Given the description of an element on the screen output the (x, y) to click on. 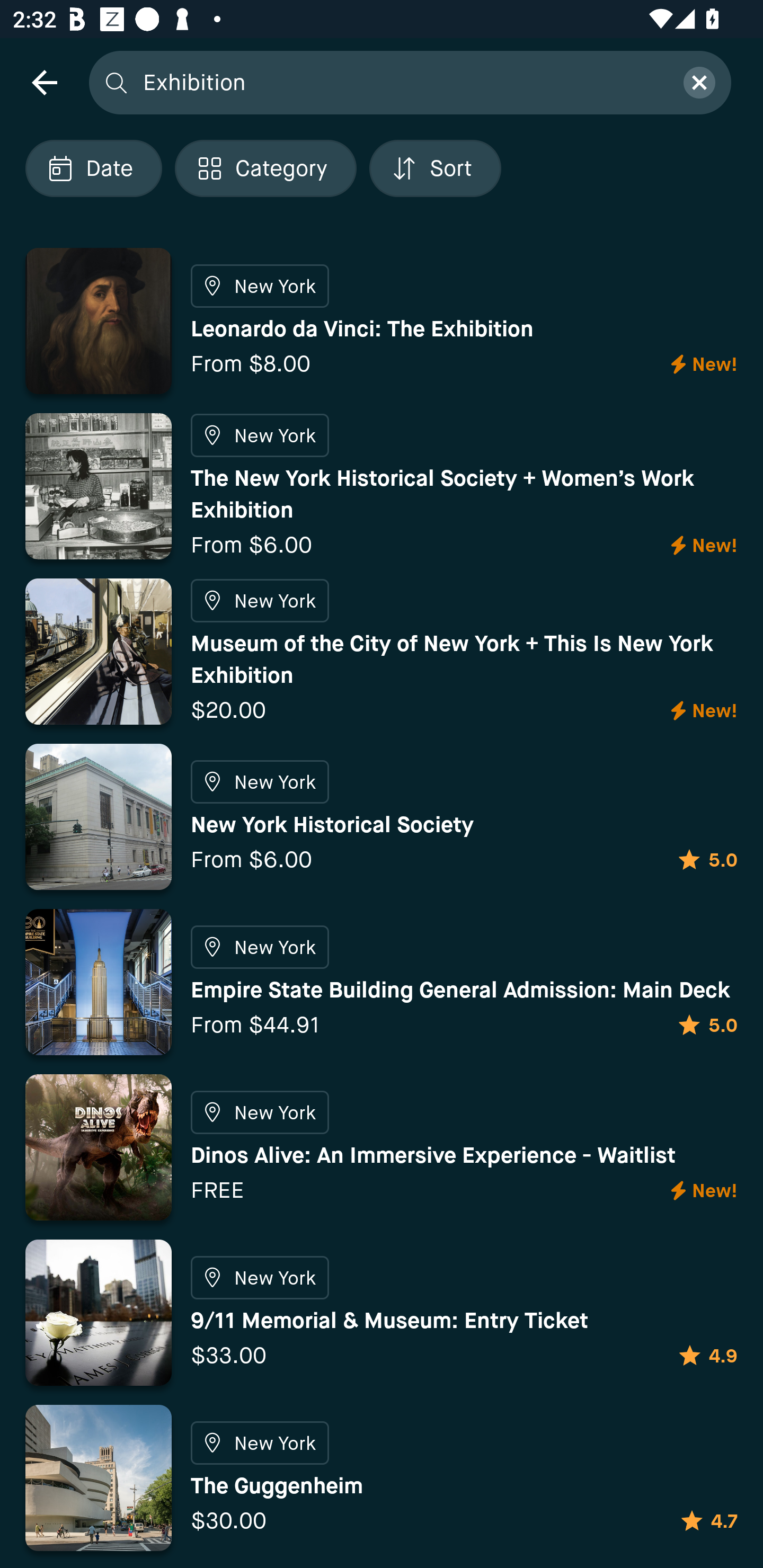
navigation icon (44, 81)
Exhibition (402, 81)
Localized description Date (93, 168)
Localized description Category (265, 168)
Localized description Sort (435, 168)
